Given the description of an element on the screen output the (x, y) to click on. 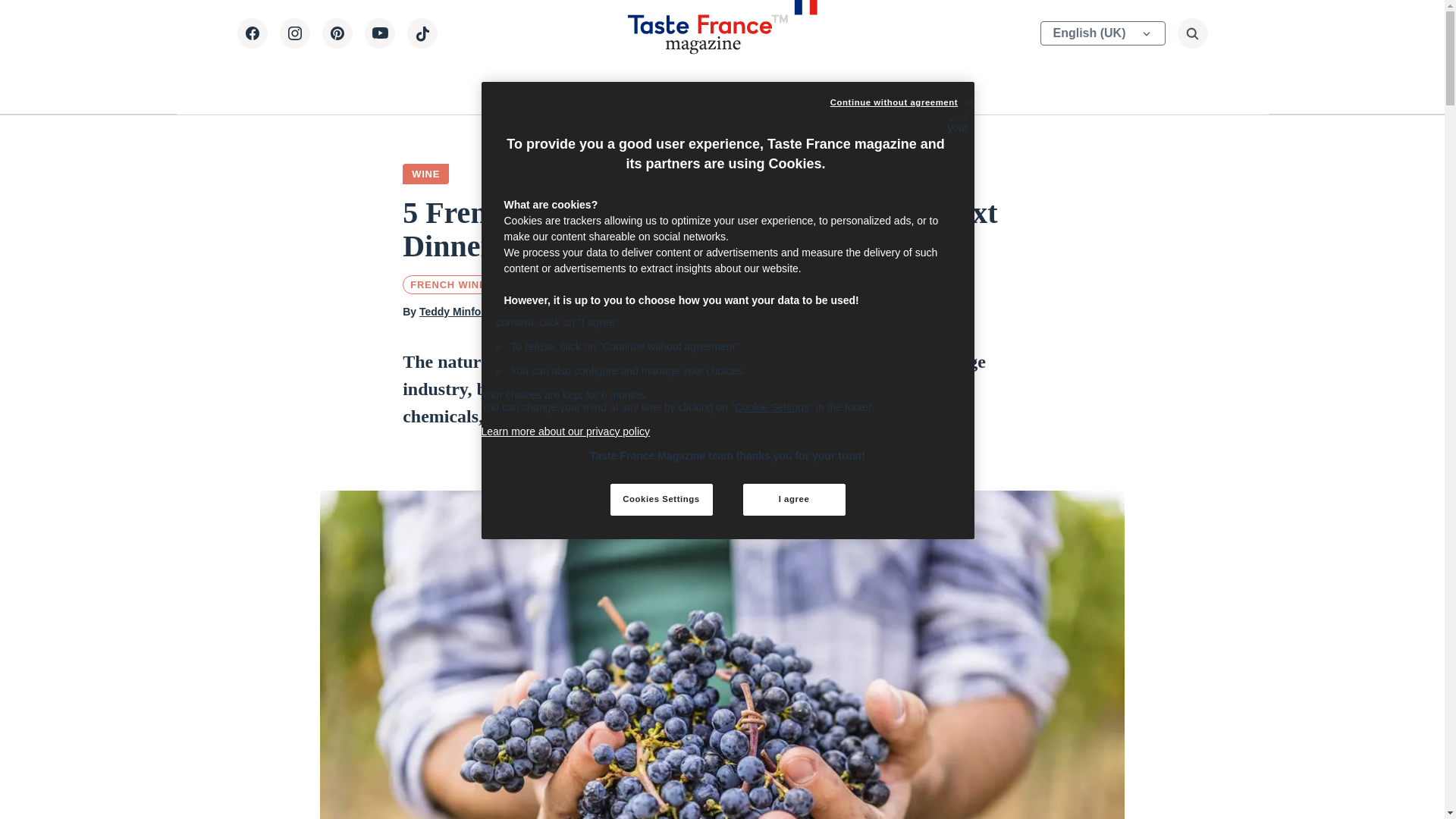
Taste France Family (857, 87)
FRENCH WINES (451, 284)
Recipes (630, 87)
Teddy Minford (455, 311)
French Products (726, 87)
Search (990, 46)
Magazine (556, 87)
WINE (425, 173)
